Given the description of an element on the screen output the (x, y) to click on. 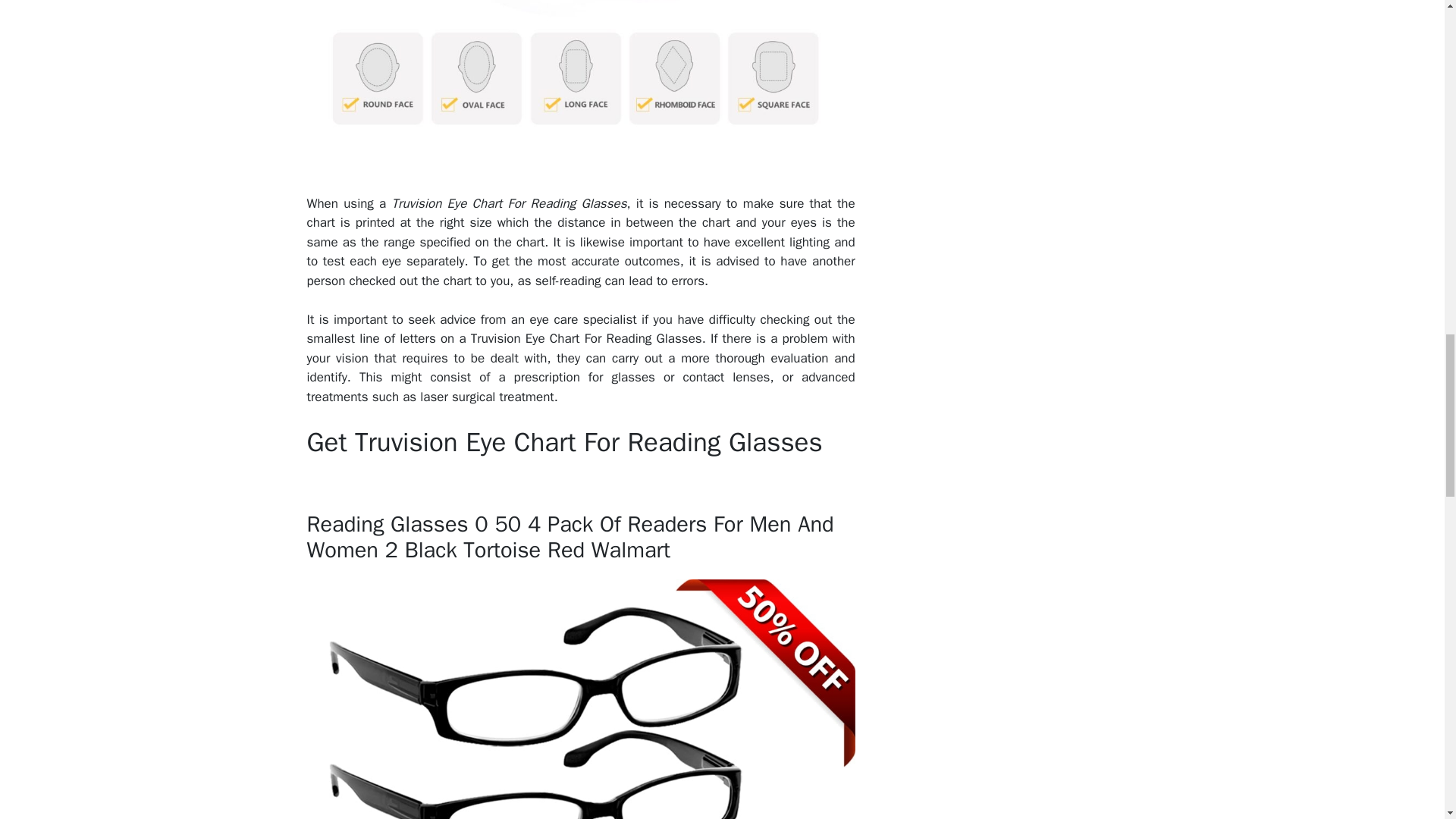
Truvision Eye Chart For Reading Glasses (579, 87)
